Given the description of an element on the screen output the (x, y) to click on. 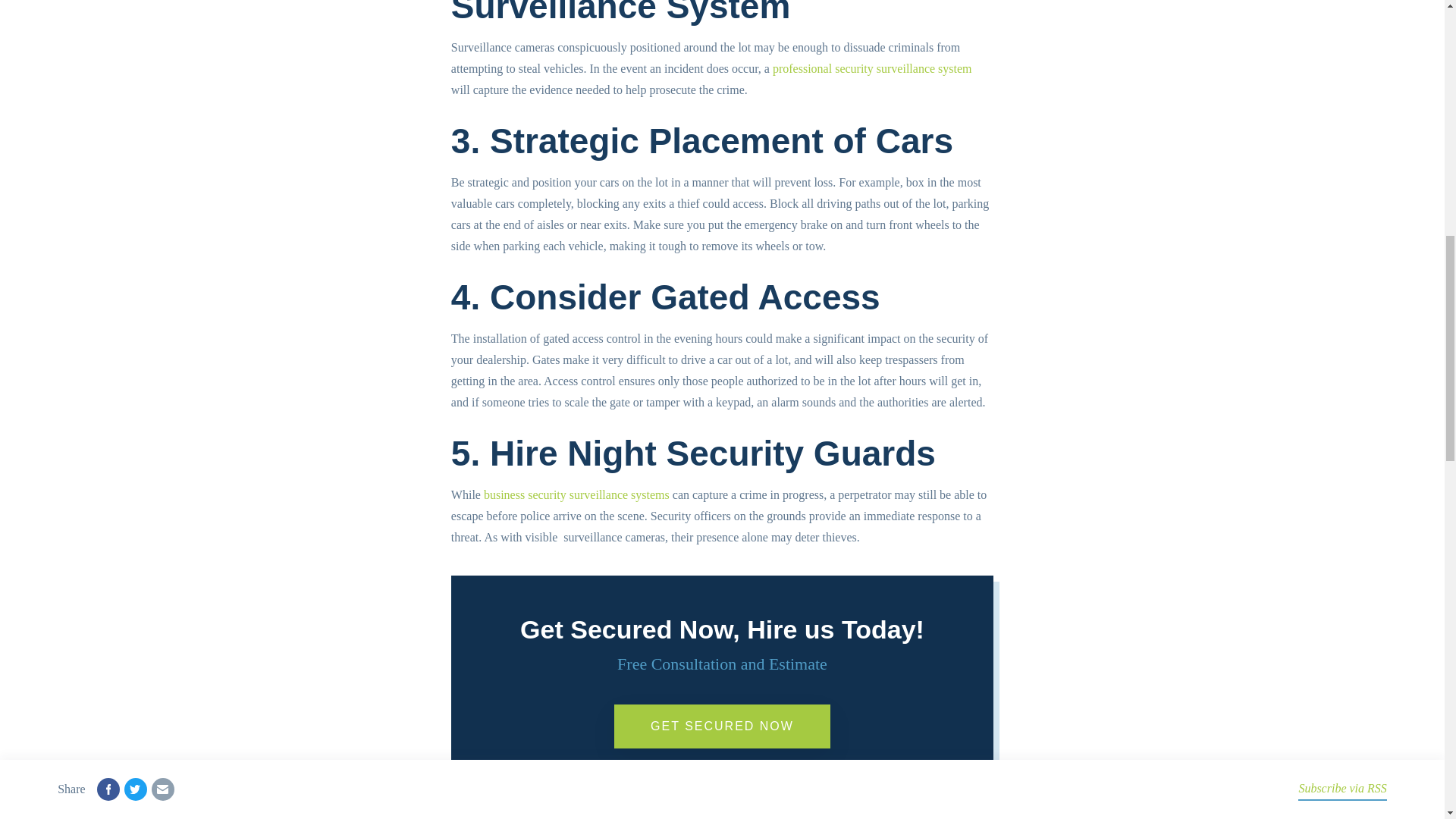
business security surveillance systems (576, 494)
GET SECURED NOW (721, 726)
professional security surveillance system (872, 68)
